Given the description of an element on the screen output the (x, y) to click on. 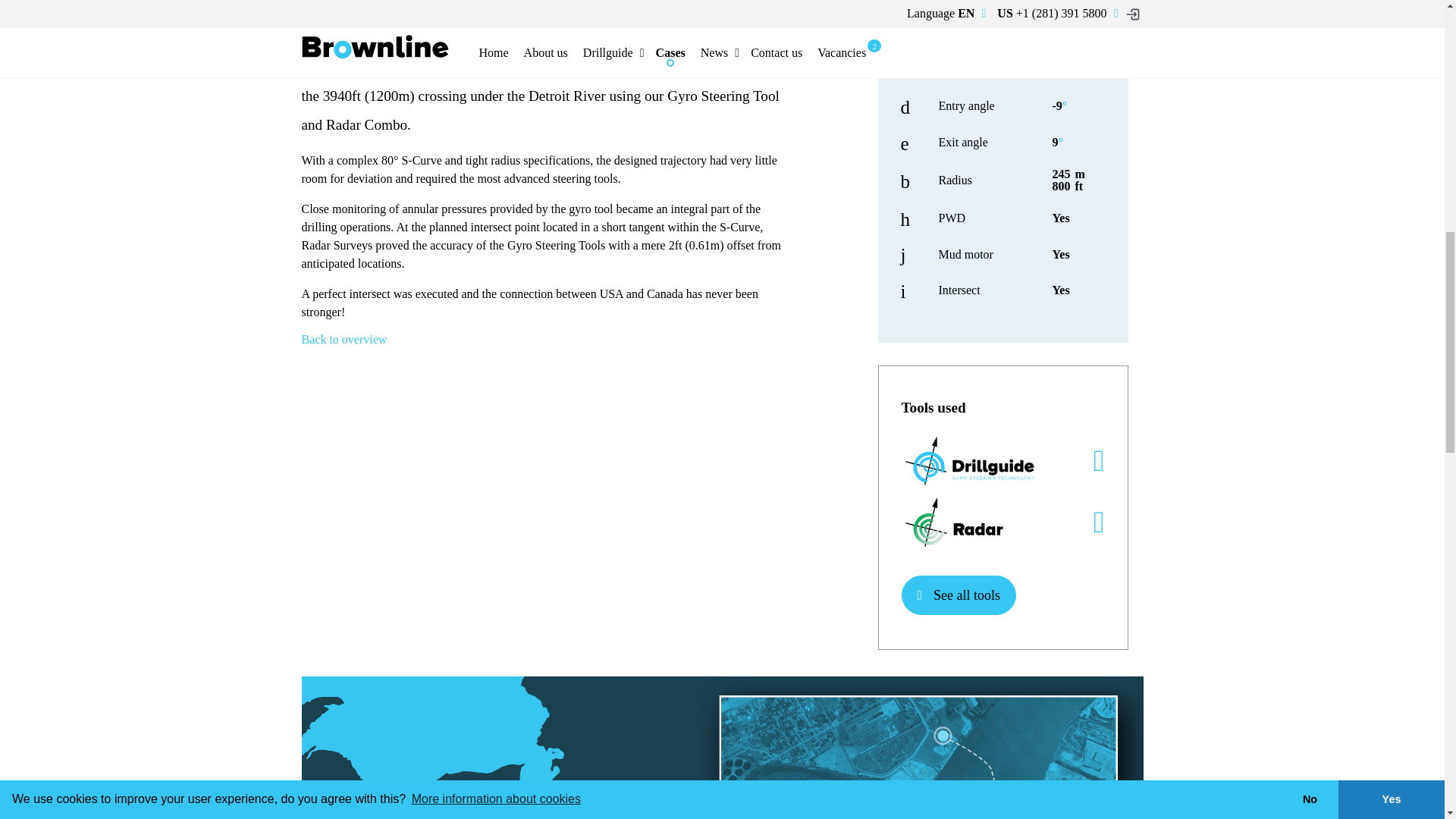
Back to overview (344, 338)
